Given the description of an element on the screen output the (x, y) to click on. 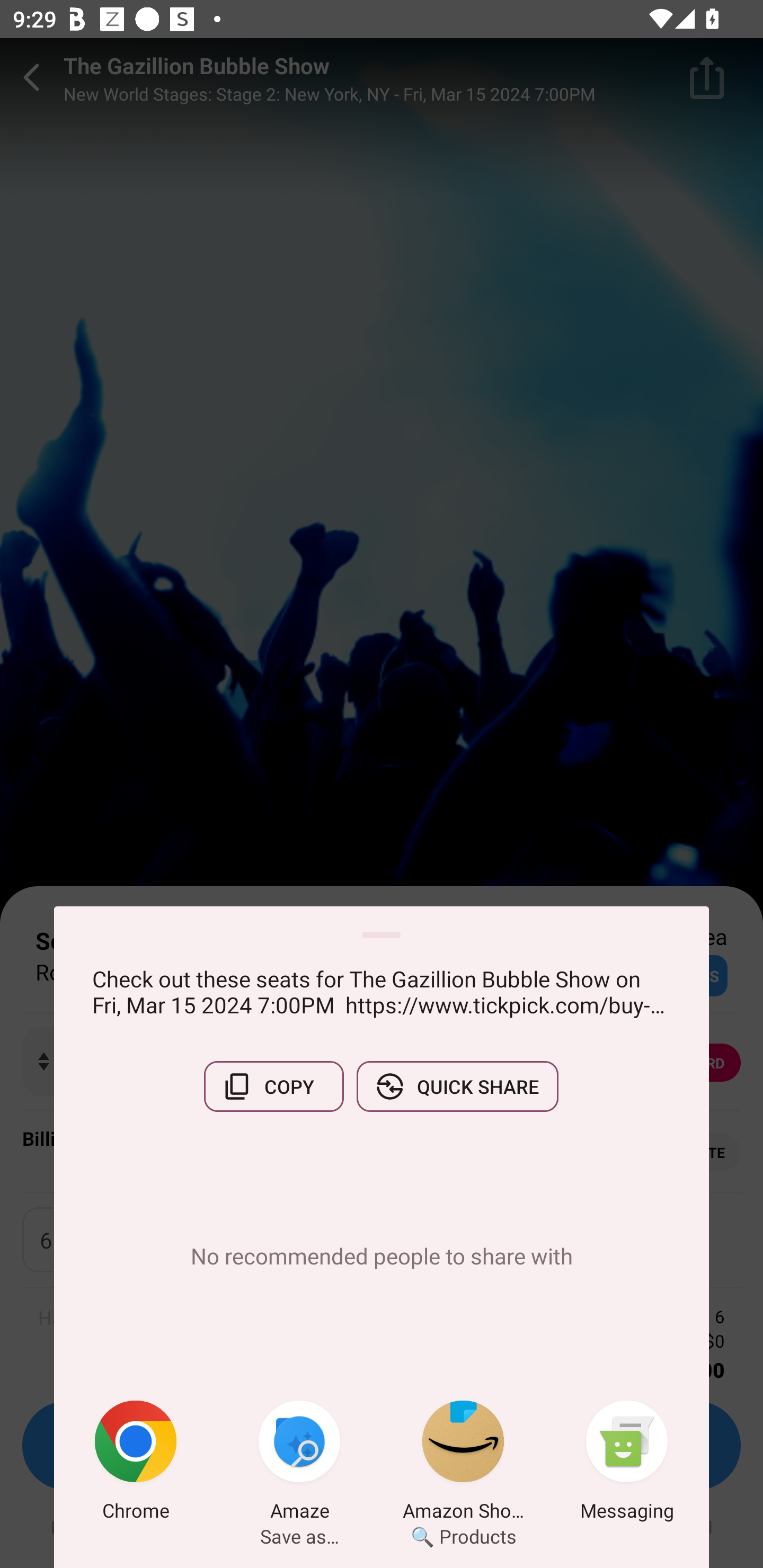
COPY (273, 1086)
QUICK SHARE (457, 1086)
Chrome (135, 1463)
Amaze Save as… (299, 1463)
Amazon Shopping 🔍 Products (463, 1463)
Messaging (626, 1463)
